Given the description of an element on the screen output the (x, y) to click on. 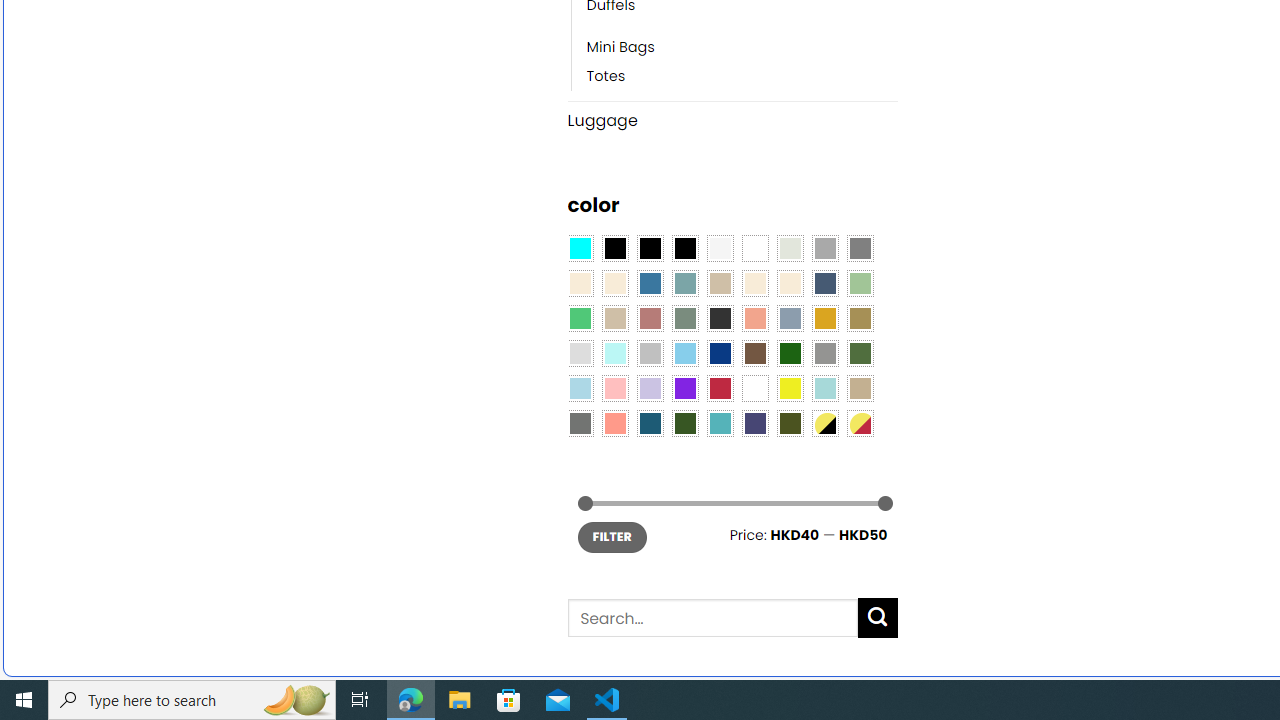
Black-Brown (684, 249)
Teal (719, 424)
Light Purple (650, 388)
Brown (755, 354)
